Given the description of an element on the screen output the (x, y) to click on. 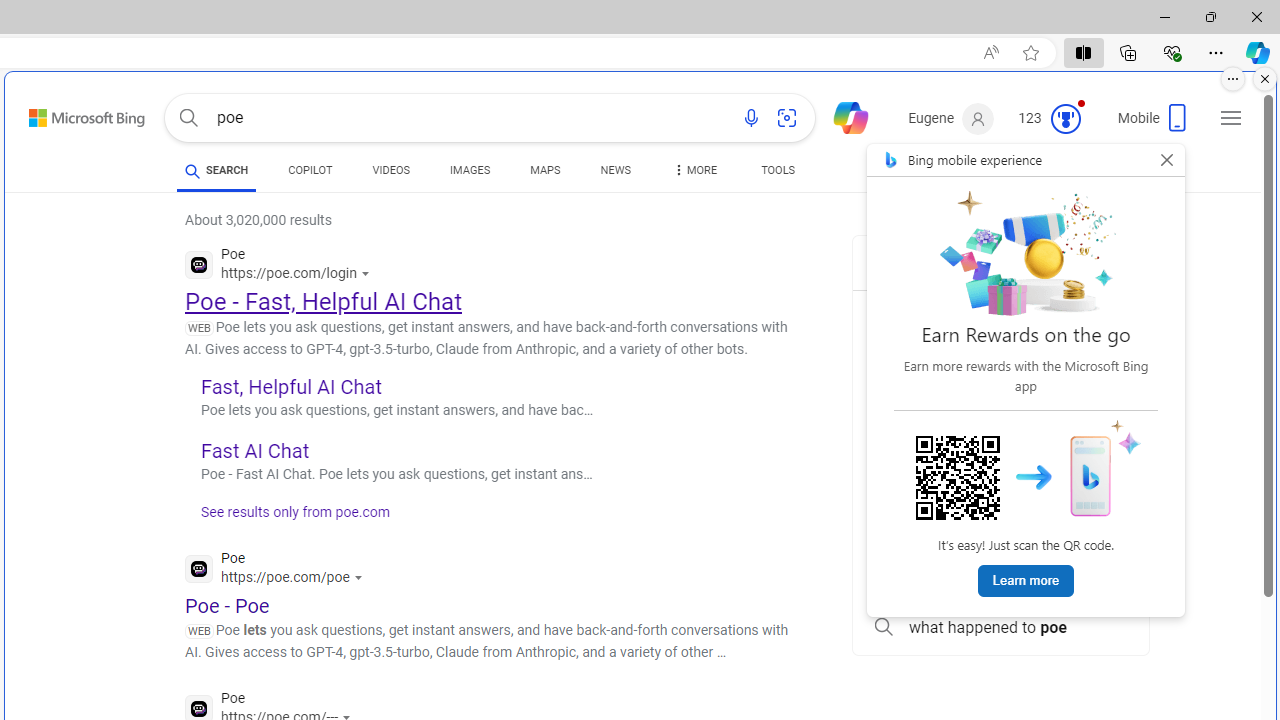
Chat (842, 116)
COPILOT (310, 170)
Mobile (1154, 124)
Fast AI Chat (254, 449)
poe official website (1000, 312)
VIDEOS (390, 170)
NEWS (614, 173)
Poe - Poe (227, 605)
Scan me! (957, 478)
TOOLS (777, 170)
IMAGES (470, 173)
